Given the description of an element on the screen output the (x, y) to click on. 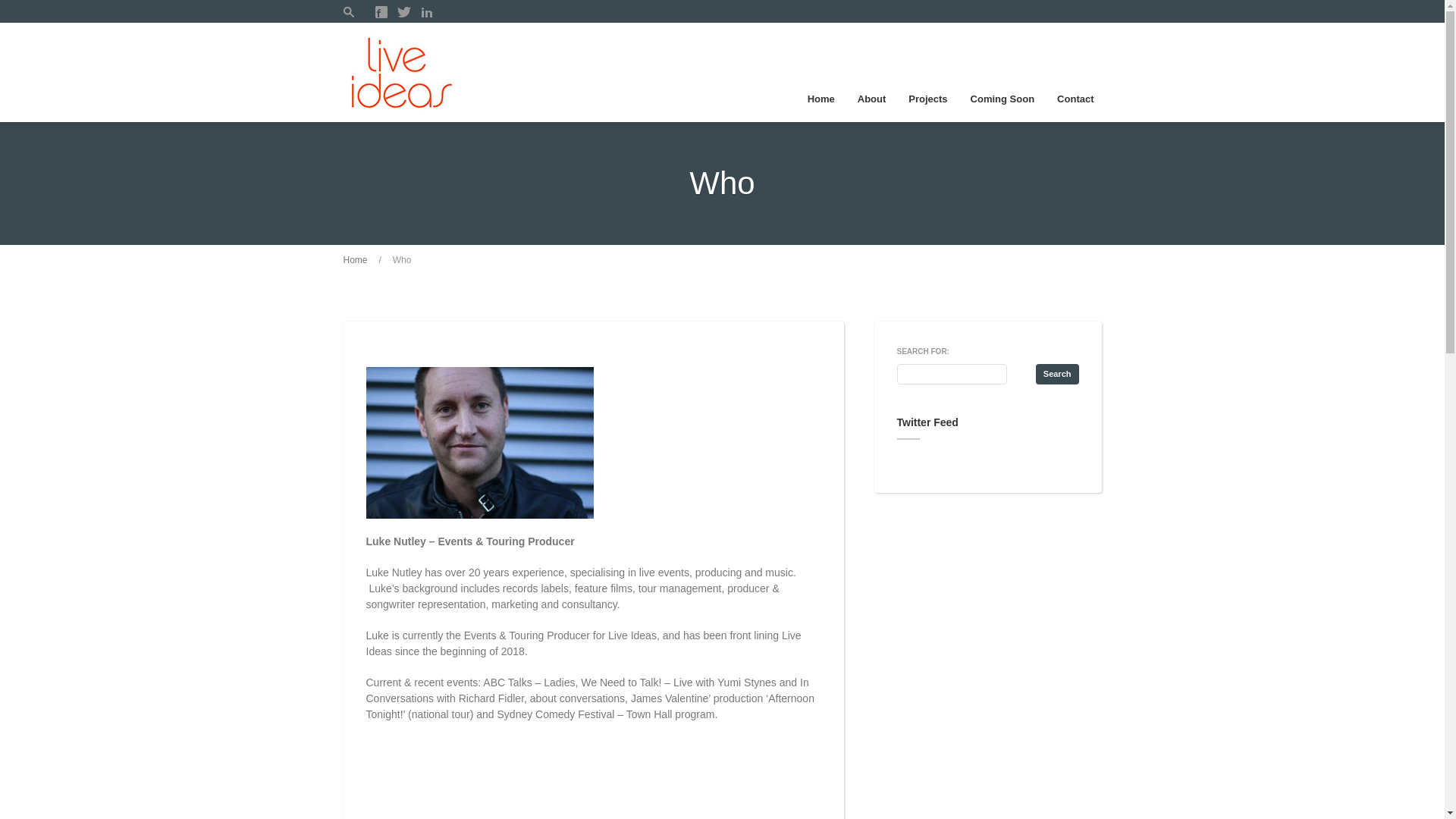
Home Element type: text (354, 259)
Search Element type: text (1057, 374)
Twitter Element type: text (403, 11)
Facebook Element type: text (380, 11)
Projects Element type: text (927, 98)
Home Element type: text (820, 98)
Who Element type: text (401, 259)
About Element type: text (871, 98)
Contact Element type: text (1075, 98)
Coming Soon Element type: text (1002, 98)
LinkedIn Element type: text (425, 11)
